Given the description of an element on the screen output the (x, y) to click on. 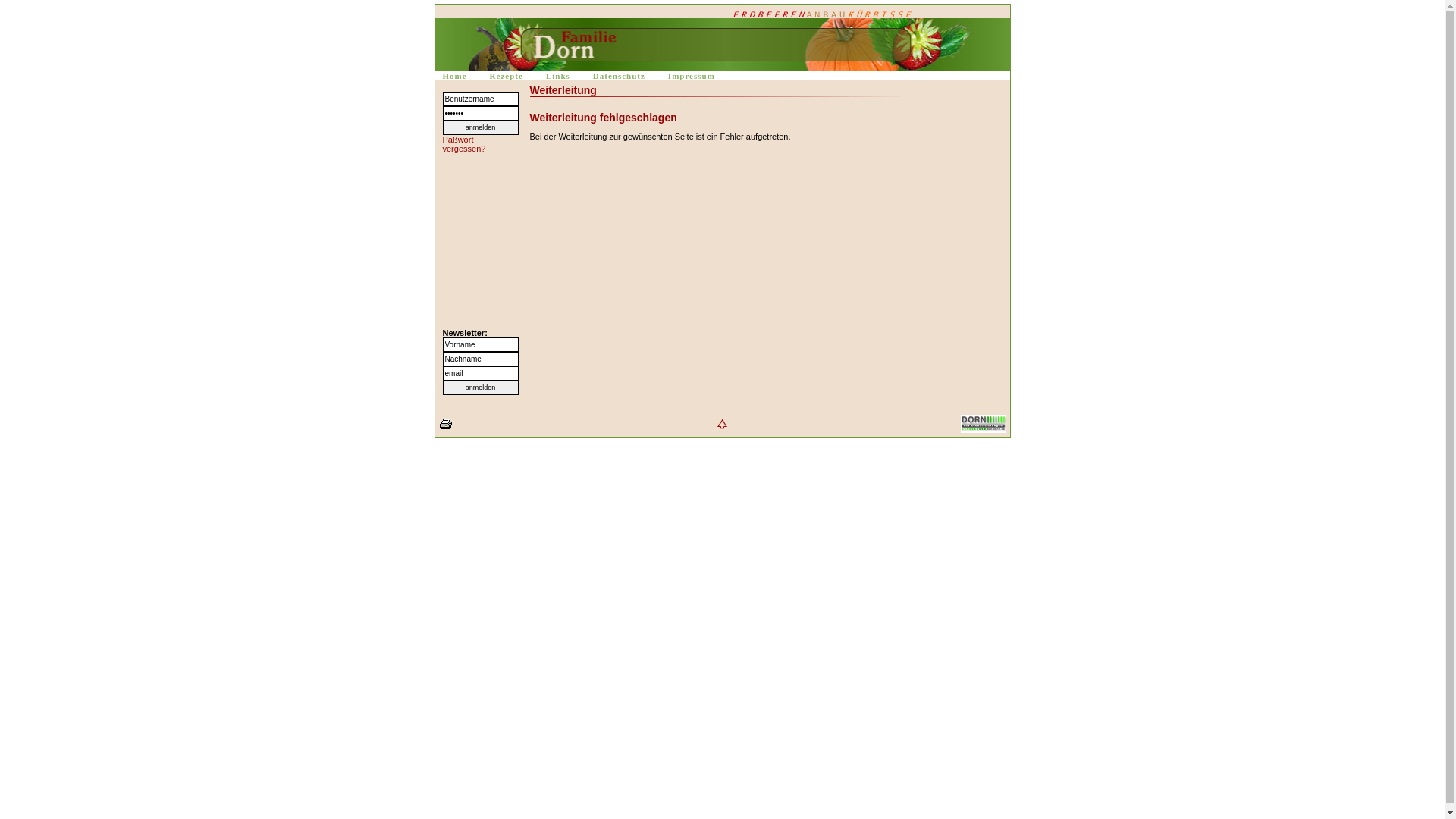
Zum Seitenanfang Element type: hover (722, 423)
Home Element type: text (454, 75)
Vorname Element type: text (480, 344)
anmelden Element type: text (480, 387)
Druckversion Element type: hover (444, 423)
Nachname Element type: text (480, 358)
Website erstellt von DORN edv Dienstleistungen Element type: hover (982, 423)
Rezepte Element type: text (506, 75)
Datenschutz Element type: text (619, 75)
Benutzername Element type: text (480, 98)
email Element type: text (480, 373)
Links Element type: text (558, 75)
Impressum Element type: text (691, 75)
anmelden Element type: text (480, 127)
